Given the description of an element on the screen output the (x, y) to click on. 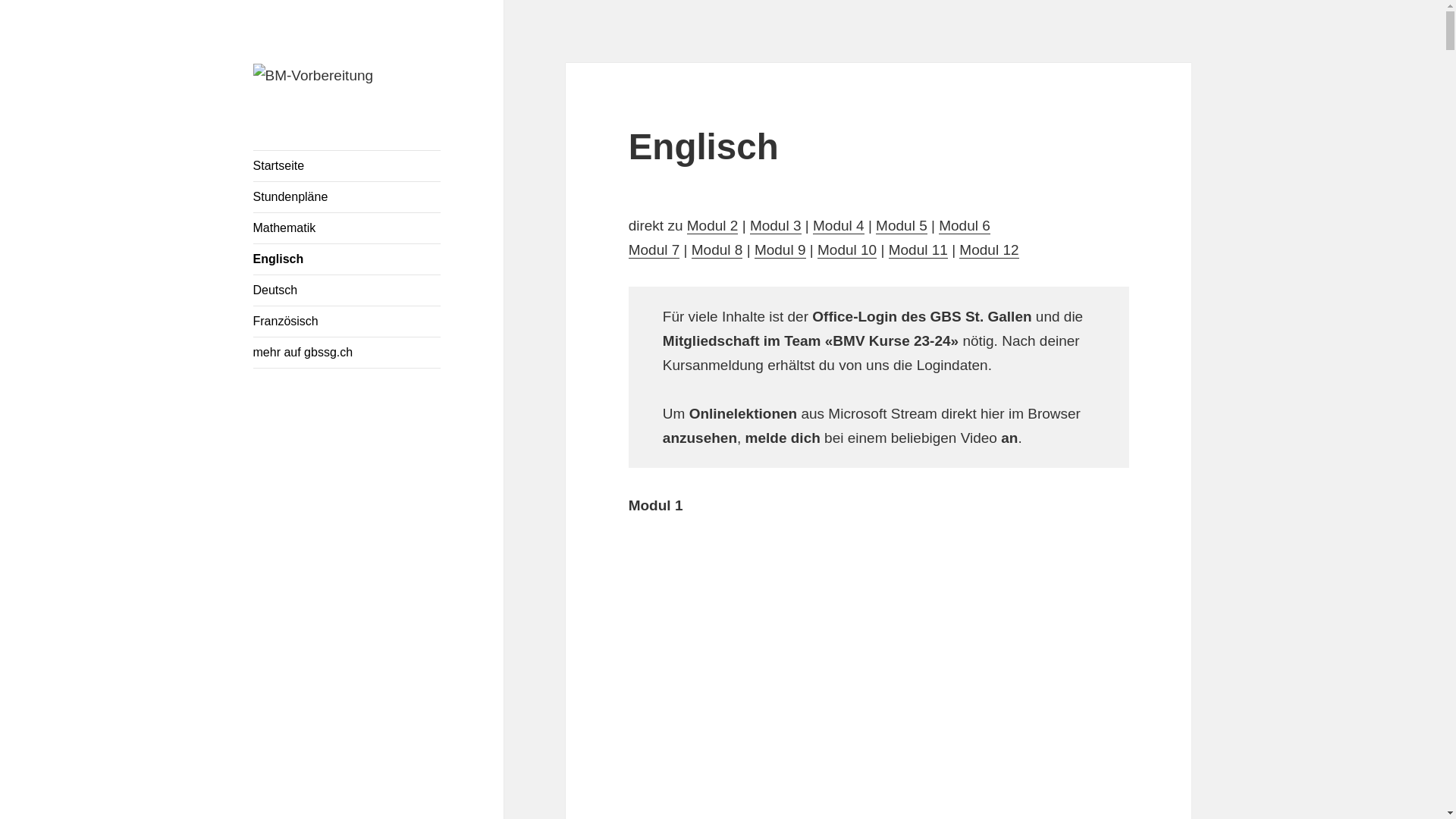
Deutsch Element type: text (347, 290)
Englisch Element type: text (347, 259)
Modul 5 Element type: text (901, 225)
Modul 9 Element type: text (780, 249)
Modul 11 Element type: text (917, 249)
Modul 12 Element type: text (988, 249)
Modul 3 Element type: text (775, 225)
Modul 8 Element type: text (717, 249)
Mathematik Element type: text (347, 228)
BM-Vorbereitung Element type: text (335, 111)
mehr auf gbssg.ch Element type: text (347, 352)
Modul 7 Element type: text (654, 249)
Modul 10 Element type: text (846, 249)
Modul 4 Element type: text (838, 225)
Startseite Element type: text (347, 165)
Modul 2 Element type: text (712, 225)
Modul 6 Element type: text (964, 225)
